Given the description of an element on the screen output the (x, y) to click on. 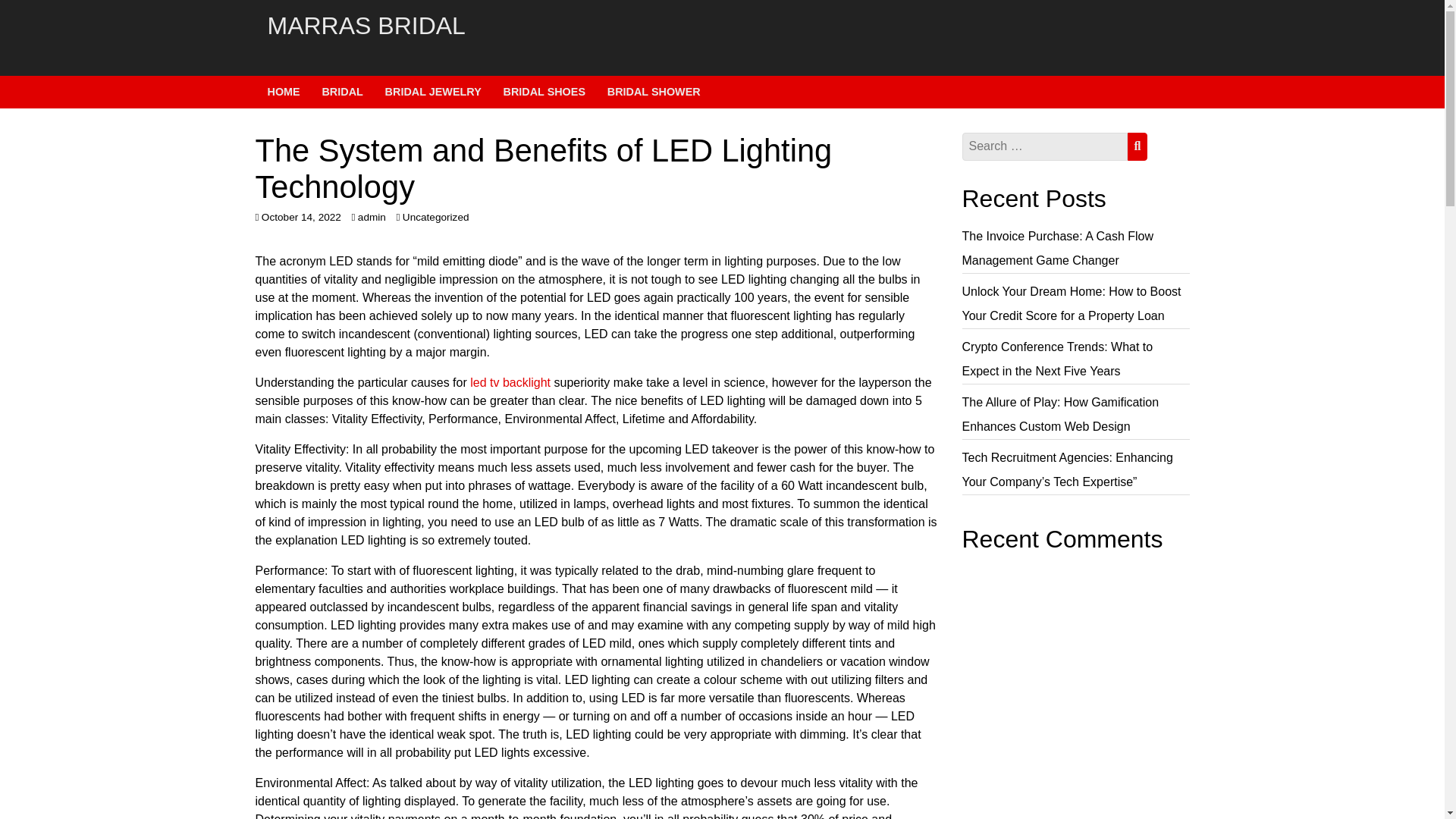
Marras Bridal (721, 26)
October 14, 2022 (301, 216)
BRIDAL SHOES (544, 91)
Search (1136, 145)
MARRAS BRIDAL (721, 26)
Search for: (1043, 145)
The Invoice Purchase: A Cash Flow Management Game Changer (1056, 248)
BRIDAL JEWELRY (433, 91)
led tv backlight (510, 382)
BRIDAL SHOWER (653, 91)
Uncategorized (435, 216)
BRIDAL (341, 91)
admin (371, 216)
